Given the description of an element on the screen output the (x, y) to click on. 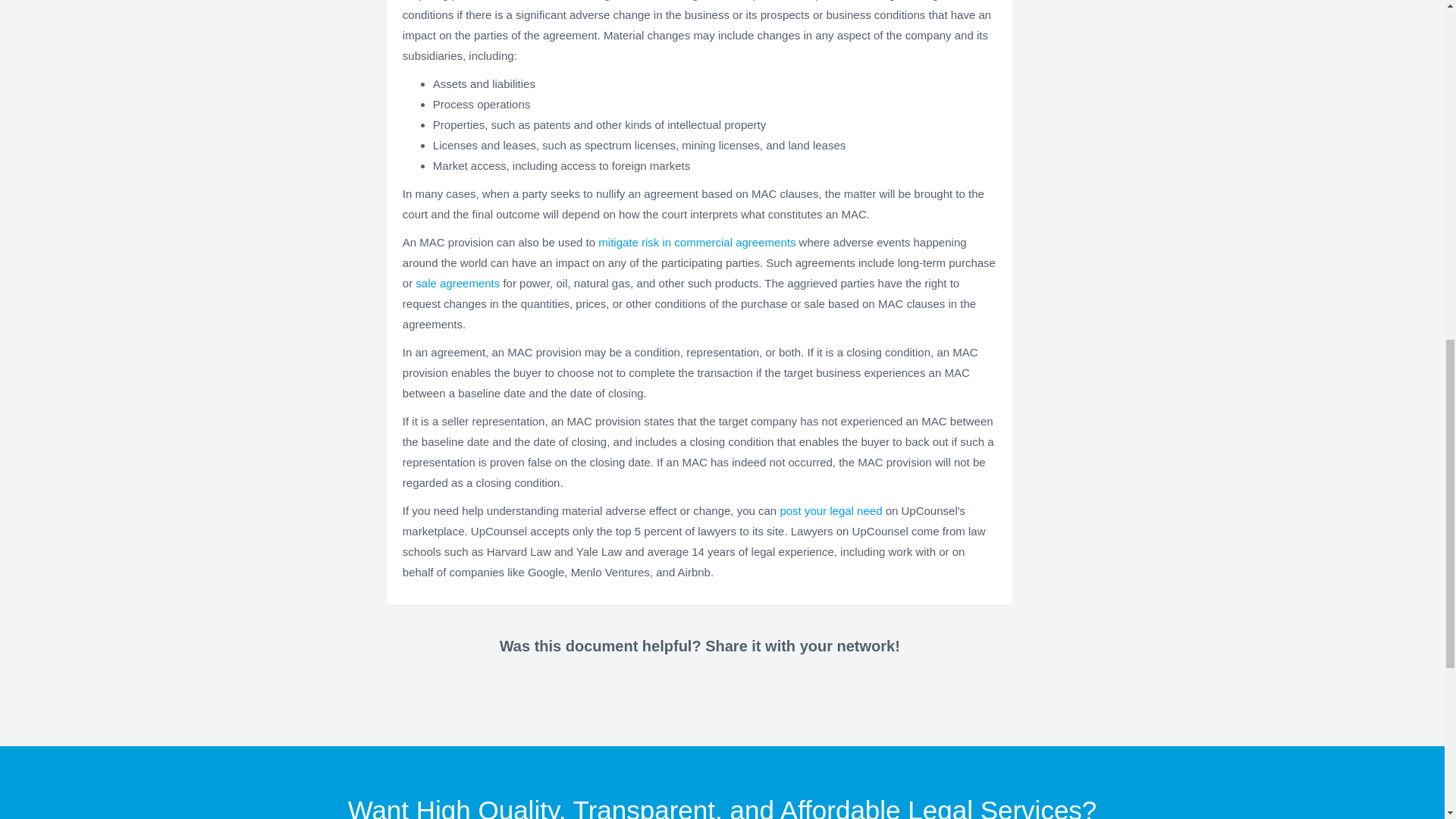
mitigate risk in commercial agreements (696, 241)
sale agreements (456, 282)
post your legal need (830, 510)
